Given the description of an element on the screen output the (x, y) to click on. 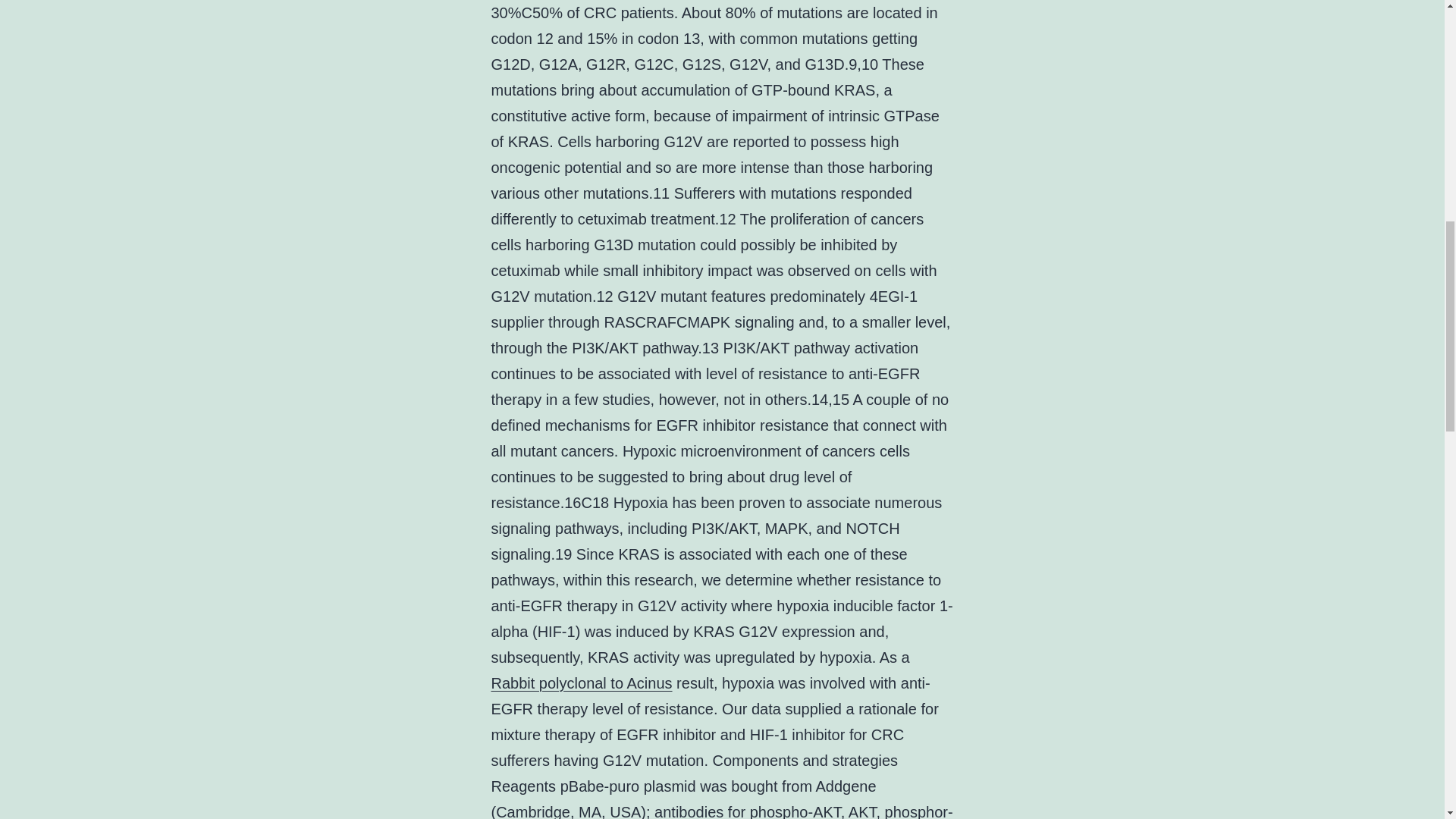
Rabbit polyclonal to Acinus (582, 682)
